Given the description of an element on the screen output the (x, y) to click on. 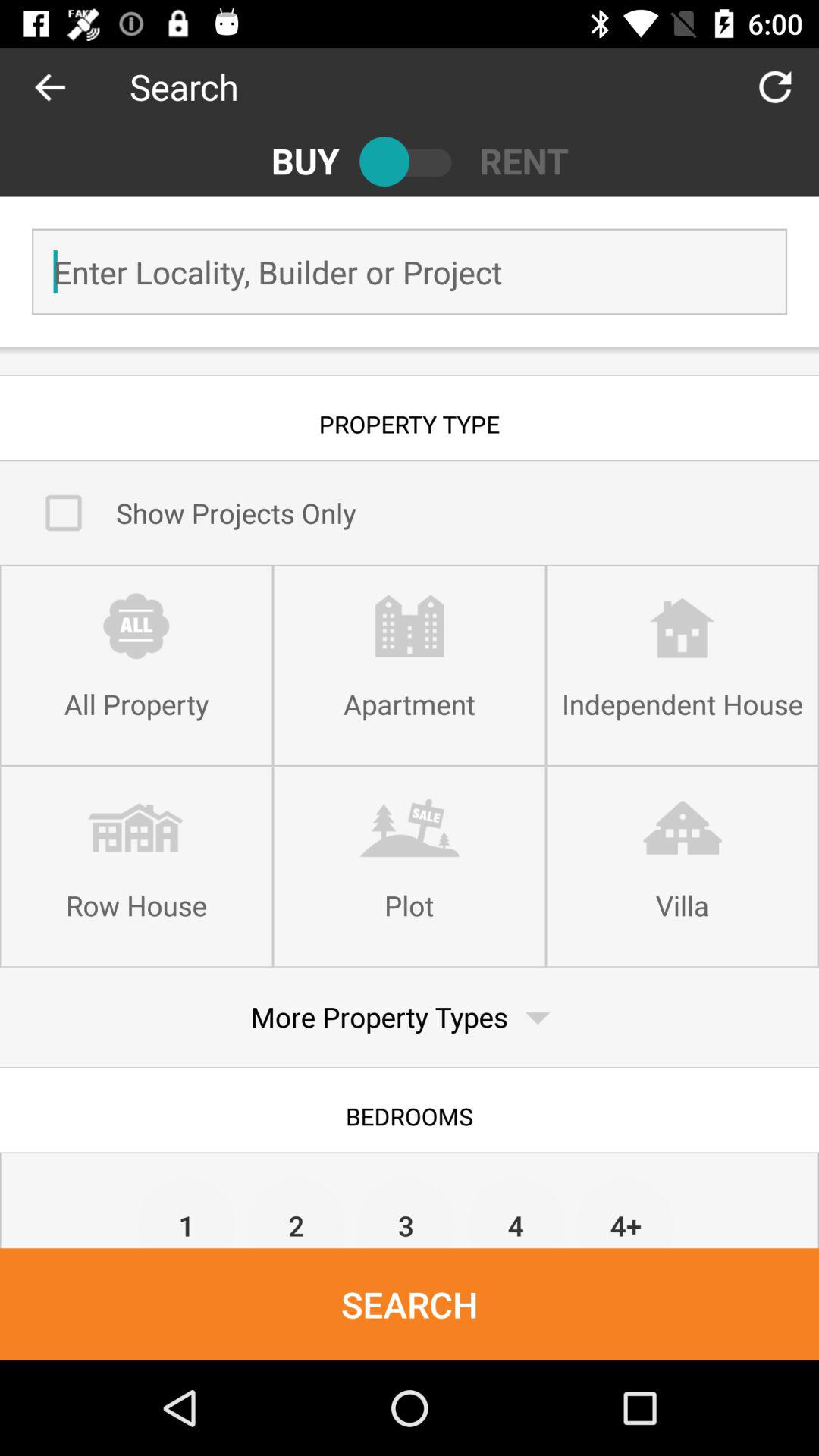
launch item below bedrooms (296, 1212)
